Given the description of an element on the screen output the (x, y) to click on. 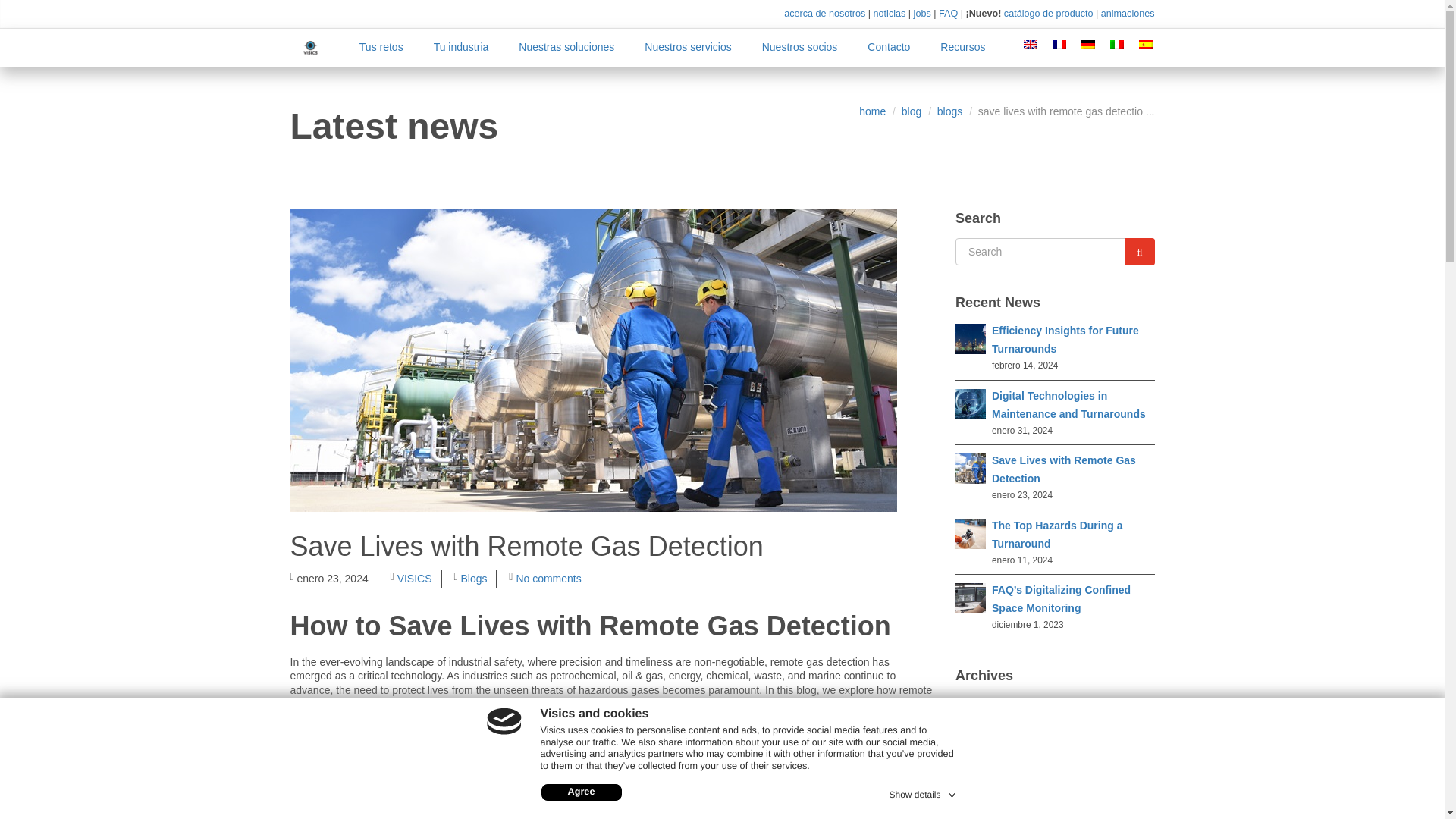
Agree (581, 791)
Show details (923, 791)
